Given the description of an element on the screen output the (x, y) to click on. 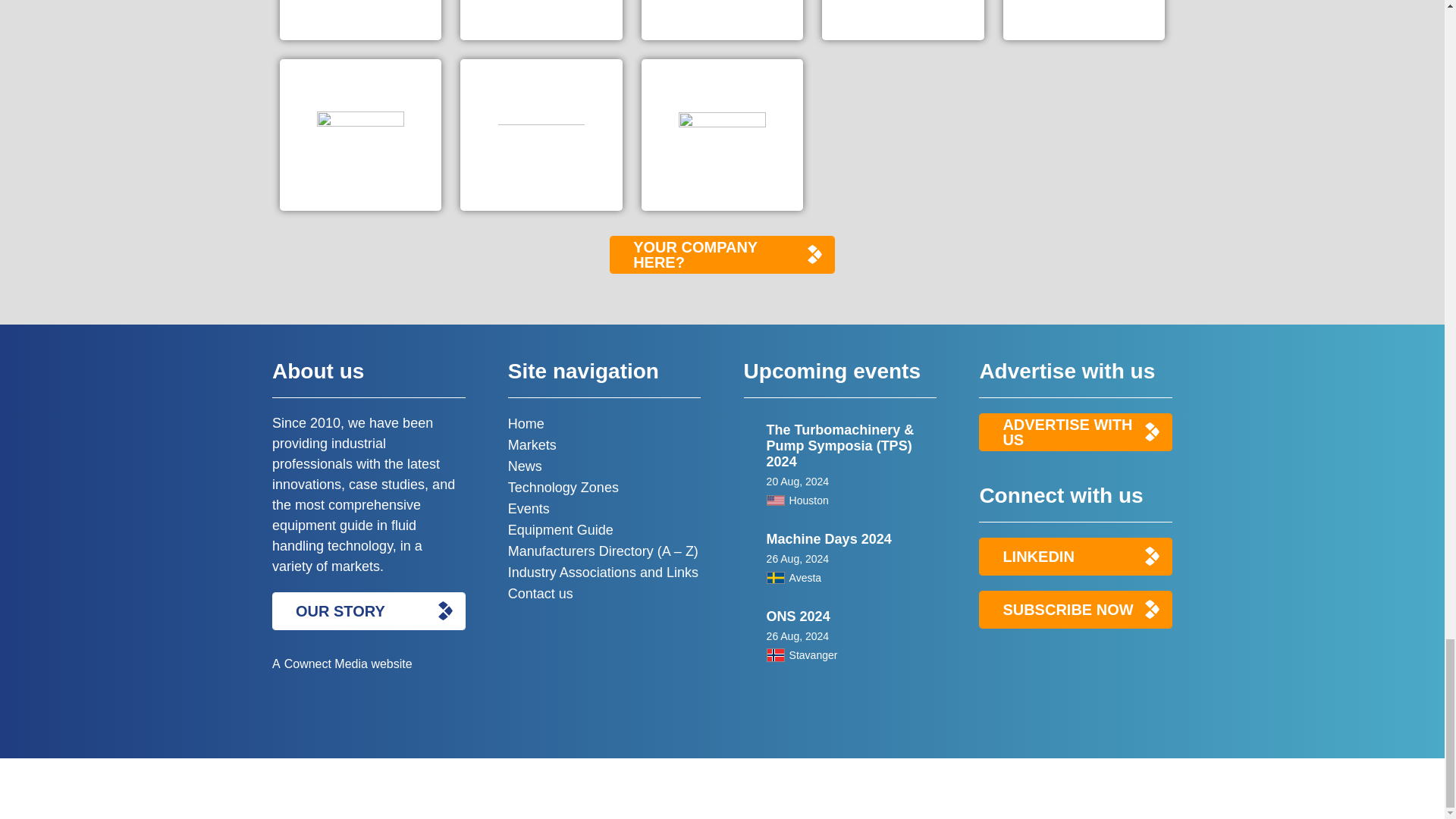
Norway (775, 654)
Sweden (775, 577)
United States (775, 500)
